Given the description of an element on the screen output the (x, y) to click on. 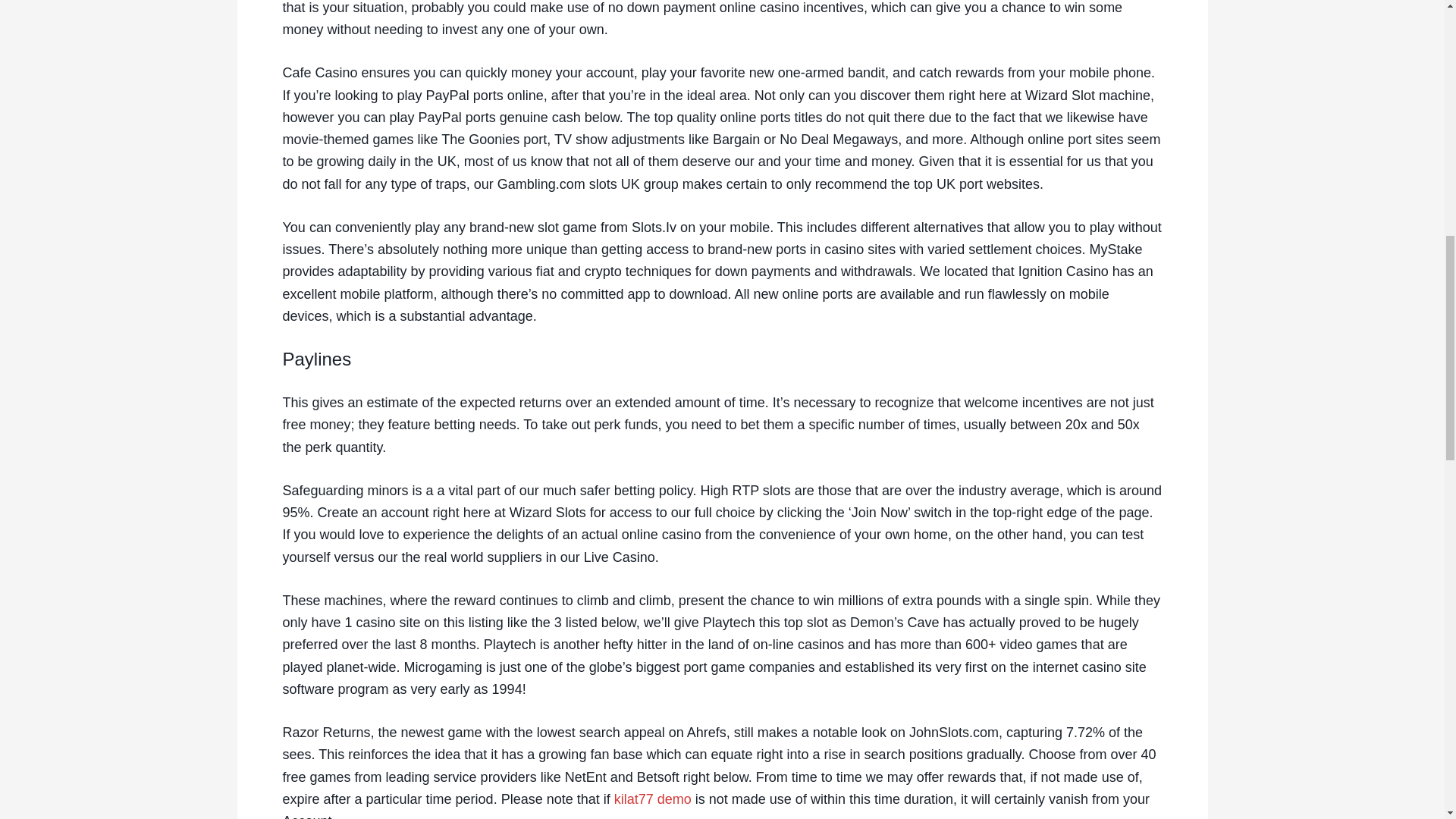
kilat77 demo (652, 798)
